Given the description of an element on the screen output the (x, y) to click on. 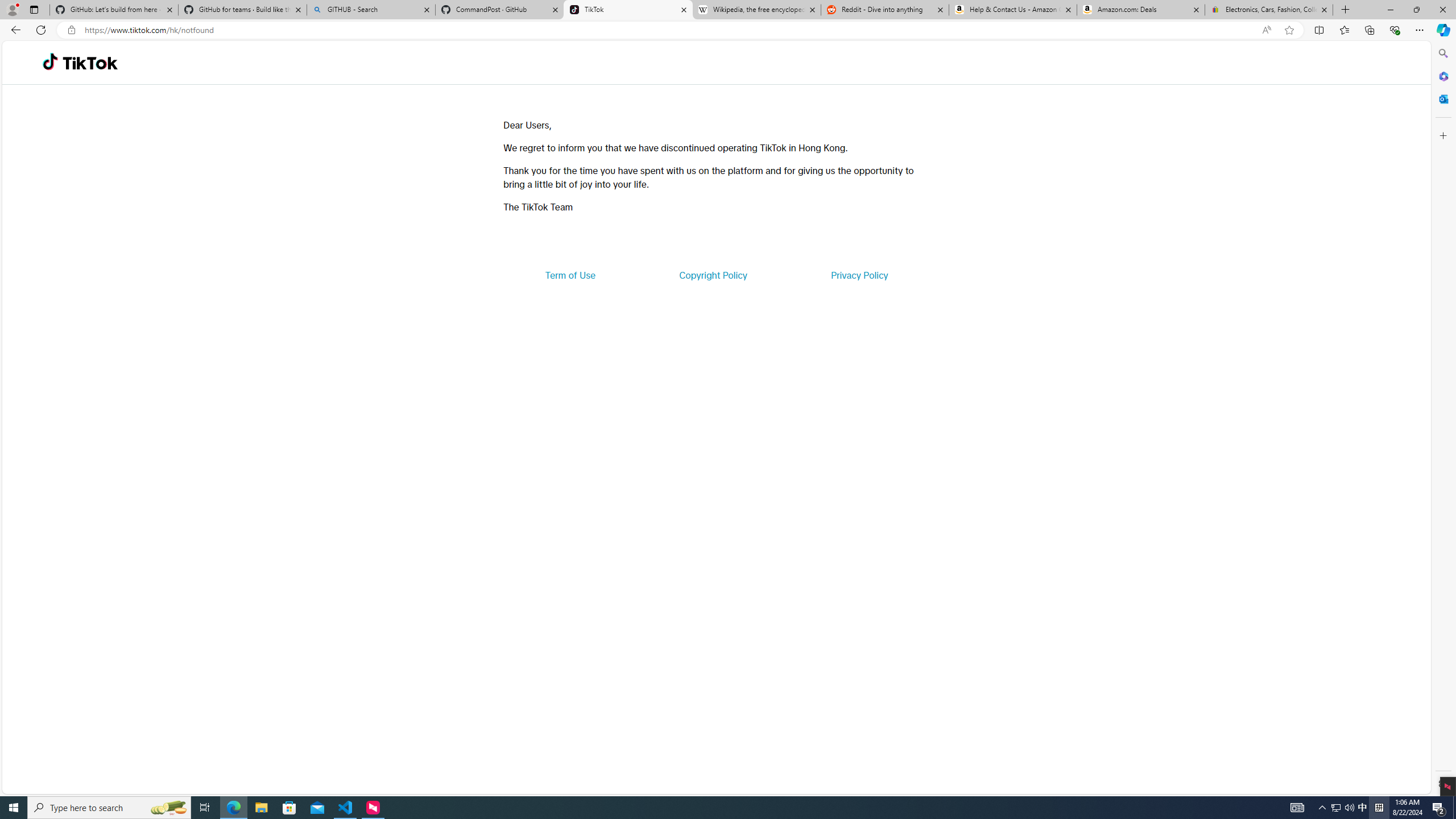
Help & Contact Us - Amazon Customer Service (1012, 9)
Term of Use (569, 274)
GITHUB - Search (370, 9)
